Given the description of an element on the screen output the (x, y) to click on. 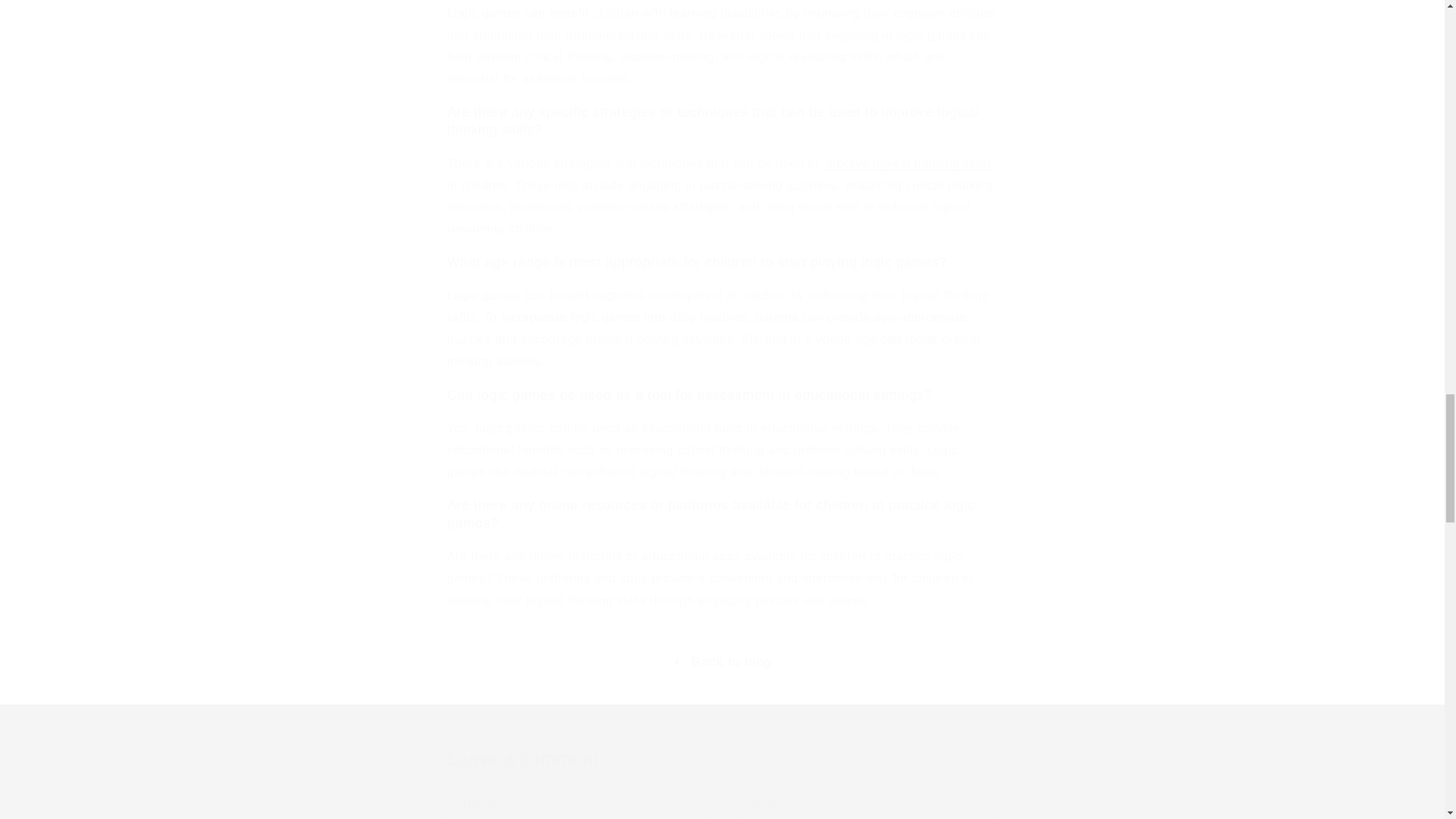
improve logical thinking skills (907, 163)
improve logical thinking skills (907, 163)
